Given the description of an element on the screen output the (x, y) to click on. 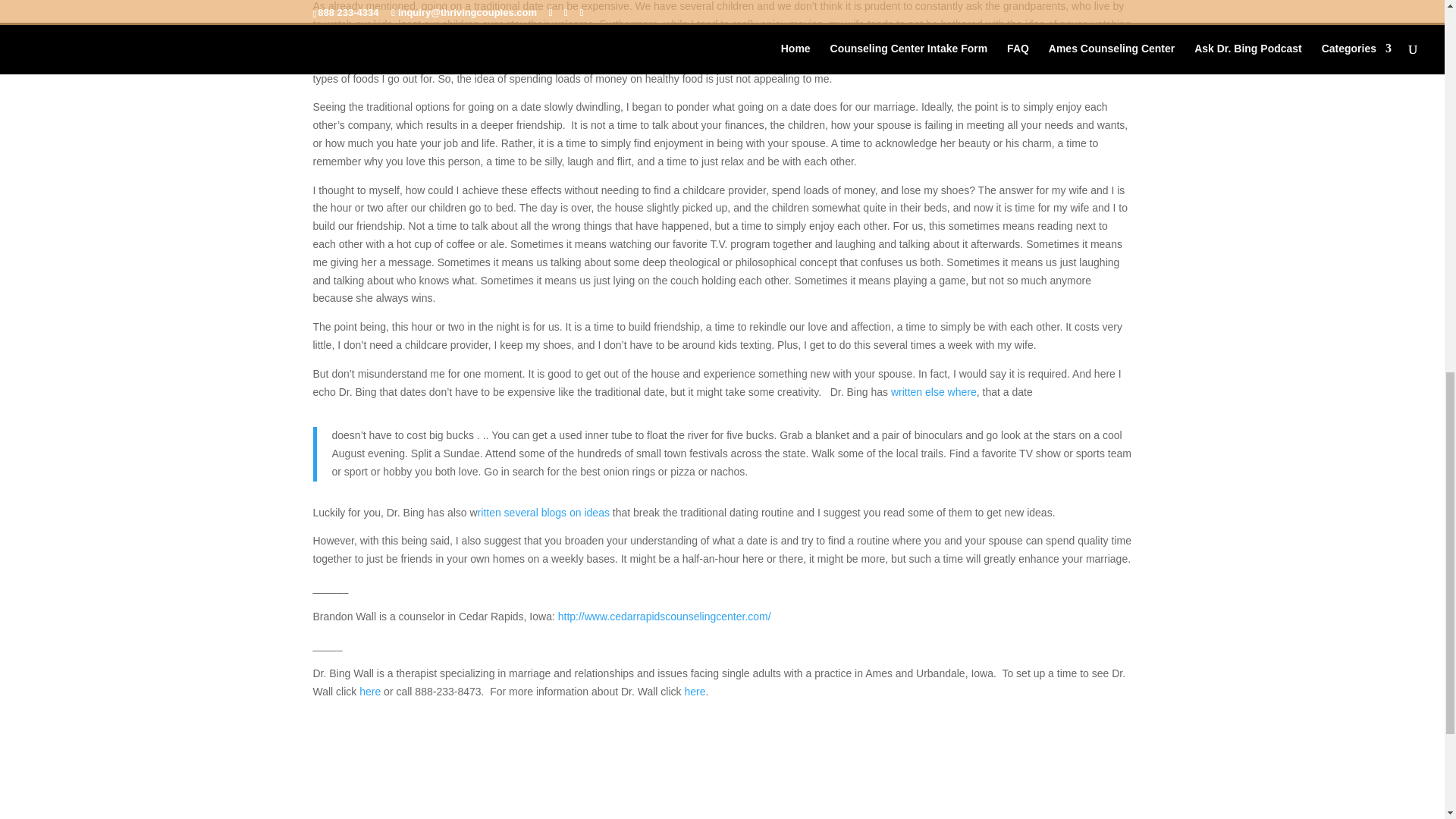
here (694, 691)
ritten several blogs on ideas (543, 512)
here (369, 691)
written else where (933, 390)
